Given the description of an element on the screen output the (x, y) to click on. 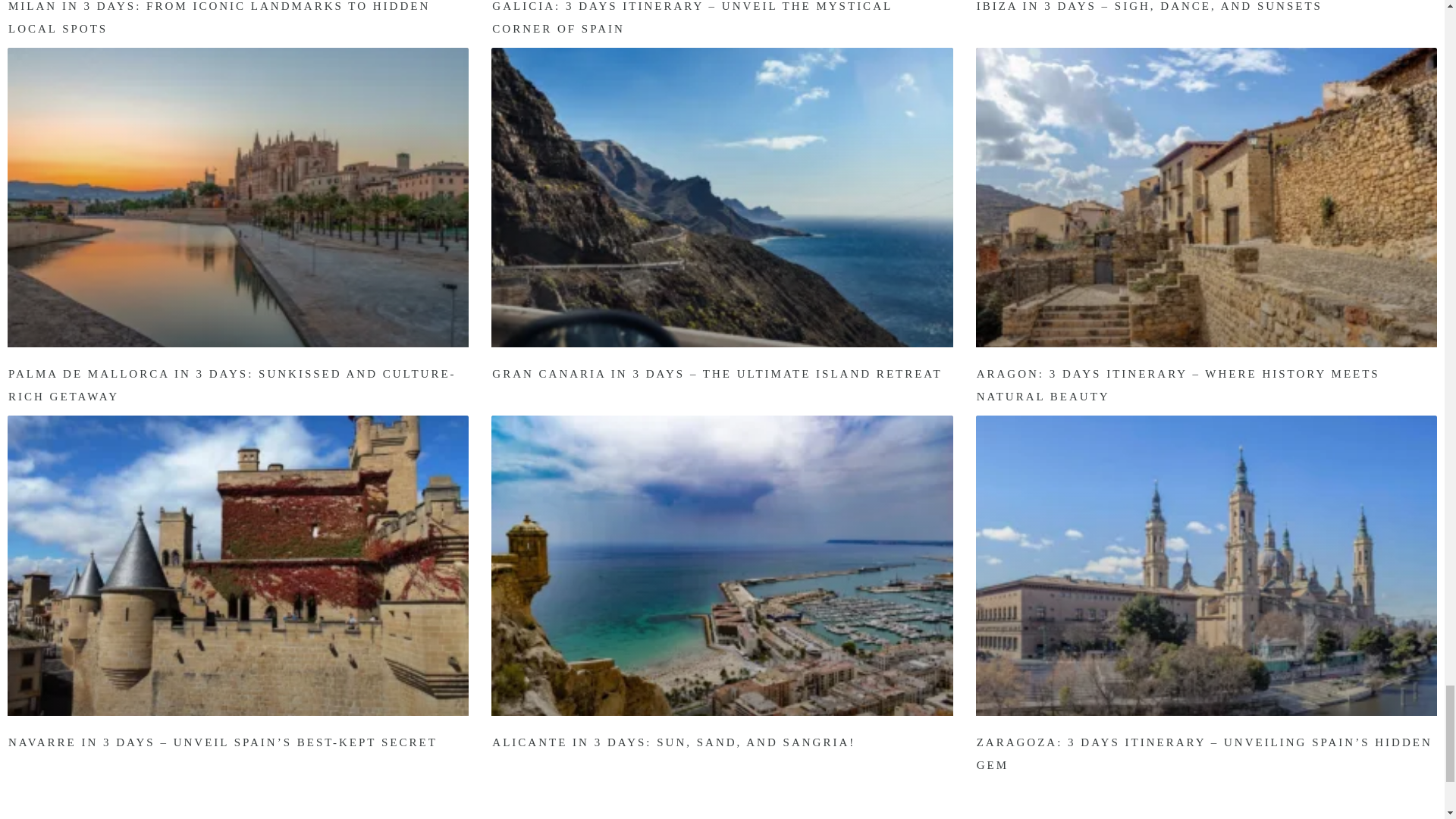
ALICANTE IN 3 DAYS: SUN, SAND, AND SANGRIA! (674, 742)
MILAN IN 3 DAYS: FROM ICONIC LANDMARKS TO HIDDEN LOCAL SPOTS (218, 17)
